Given the description of an element on the screen output the (x, y) to click on. 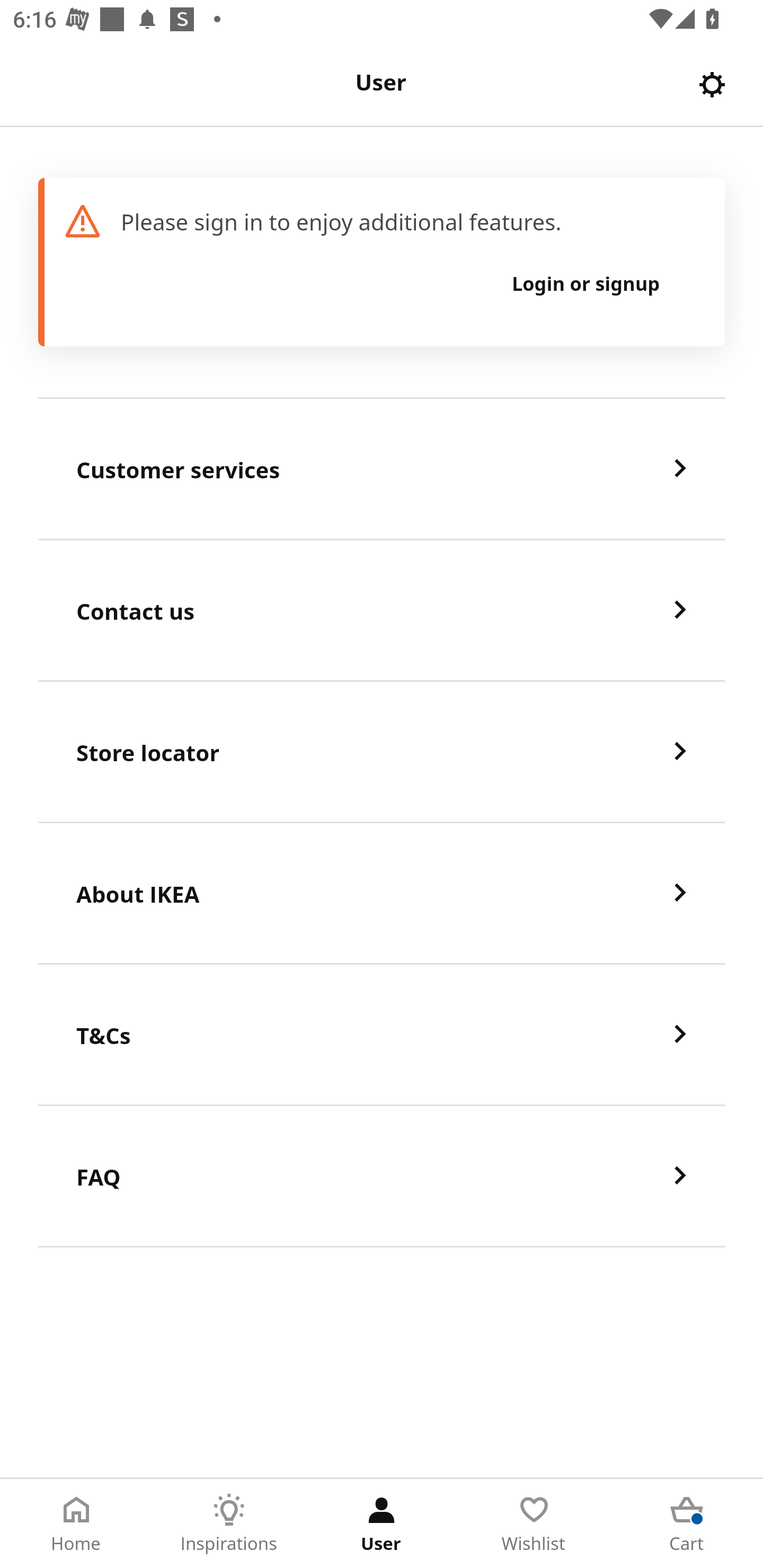
Login or signup (586, 282)
Customer services (381, 469)
Contact us (381, 611)
Store locator (381, 752)
About IKEA (381, 893)
T&Cs (381, 1034)
FAQ (381, 1176)
Home
Tab 1 of 5 (76, 1522)
Inspirations
Tab 2 of 5 (228, 1522)
User
Tab 3 of 5 (381, 1522)
Wishlist
Tab 4 of 5 (533, 1522)
Cart
Tab 5 of 5 (686, 1522)
